Given the description of an element on the screen output the (x, y) to click on. 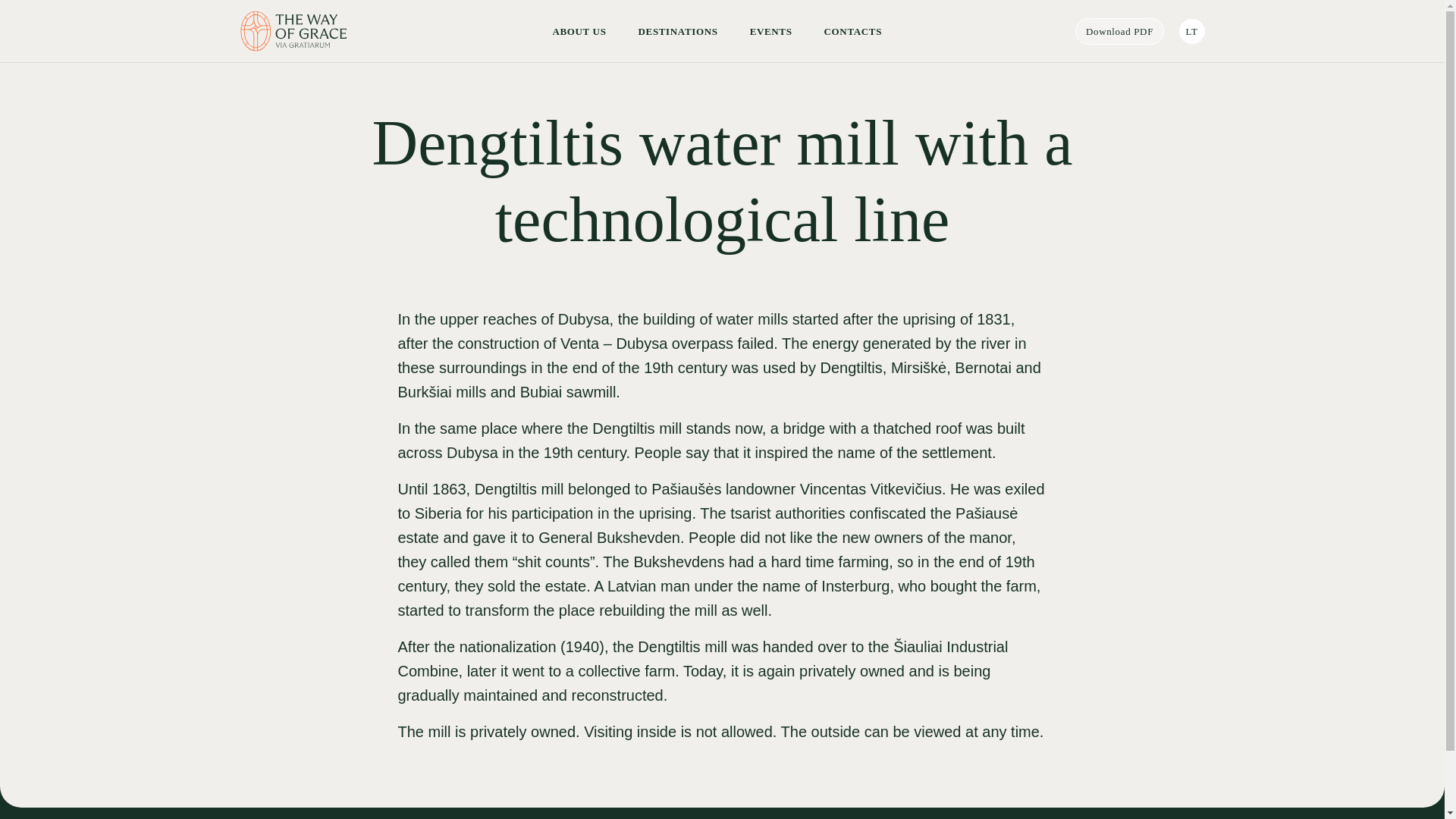
DESTINATIONS (678, 30)
CONTACTS (853, 30)
ABOUT US (578, 30)
Download PDF (1119, 31)
EVENTS (770, 30)
LT (1190, 31)
